Given the description of an element on the screen output the (x, y) to click on. 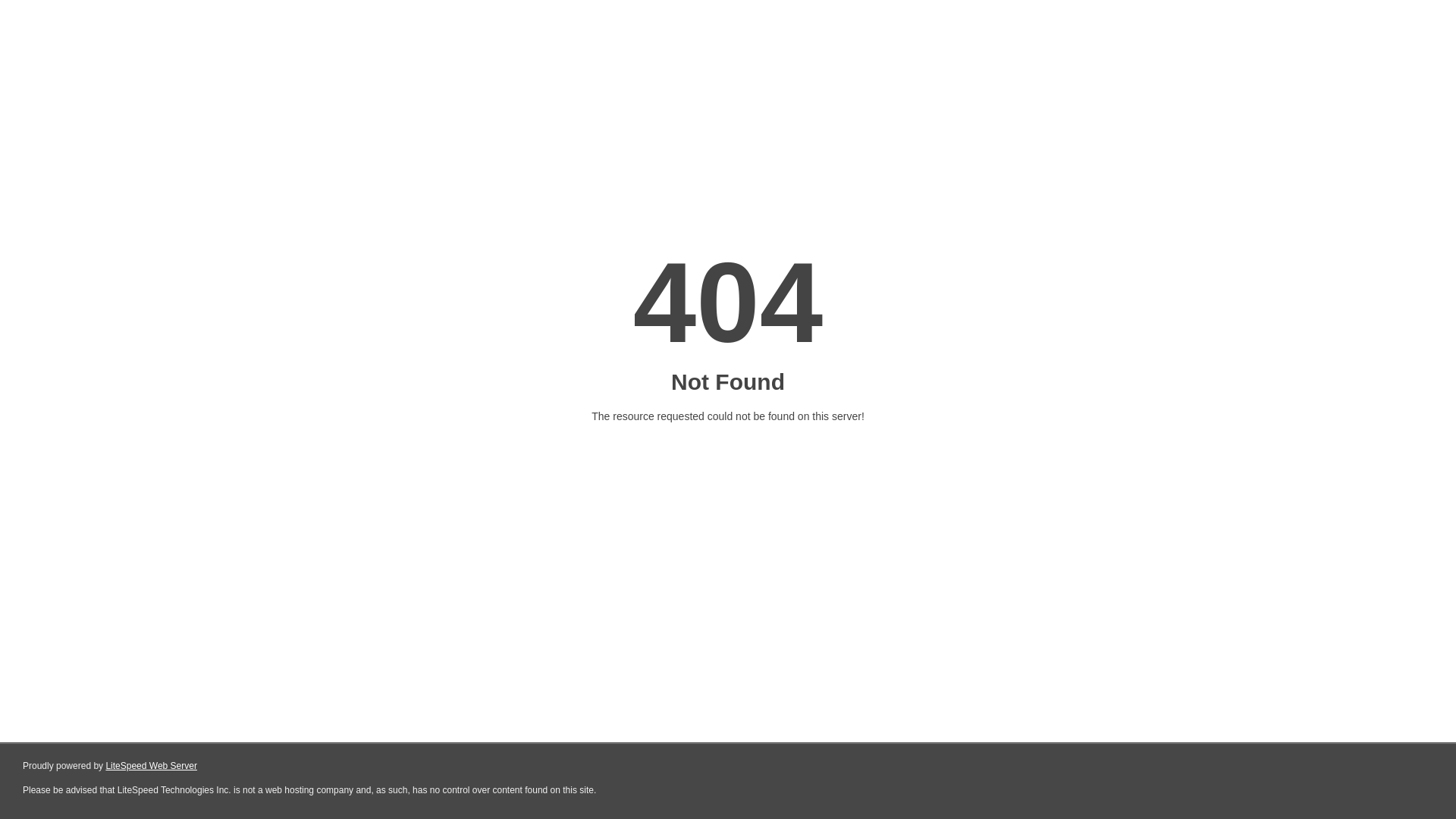
LiteSpeed Web Server Element type: text (151, 765)
